Given the description of an element on the screen output the (x, y) to click on. 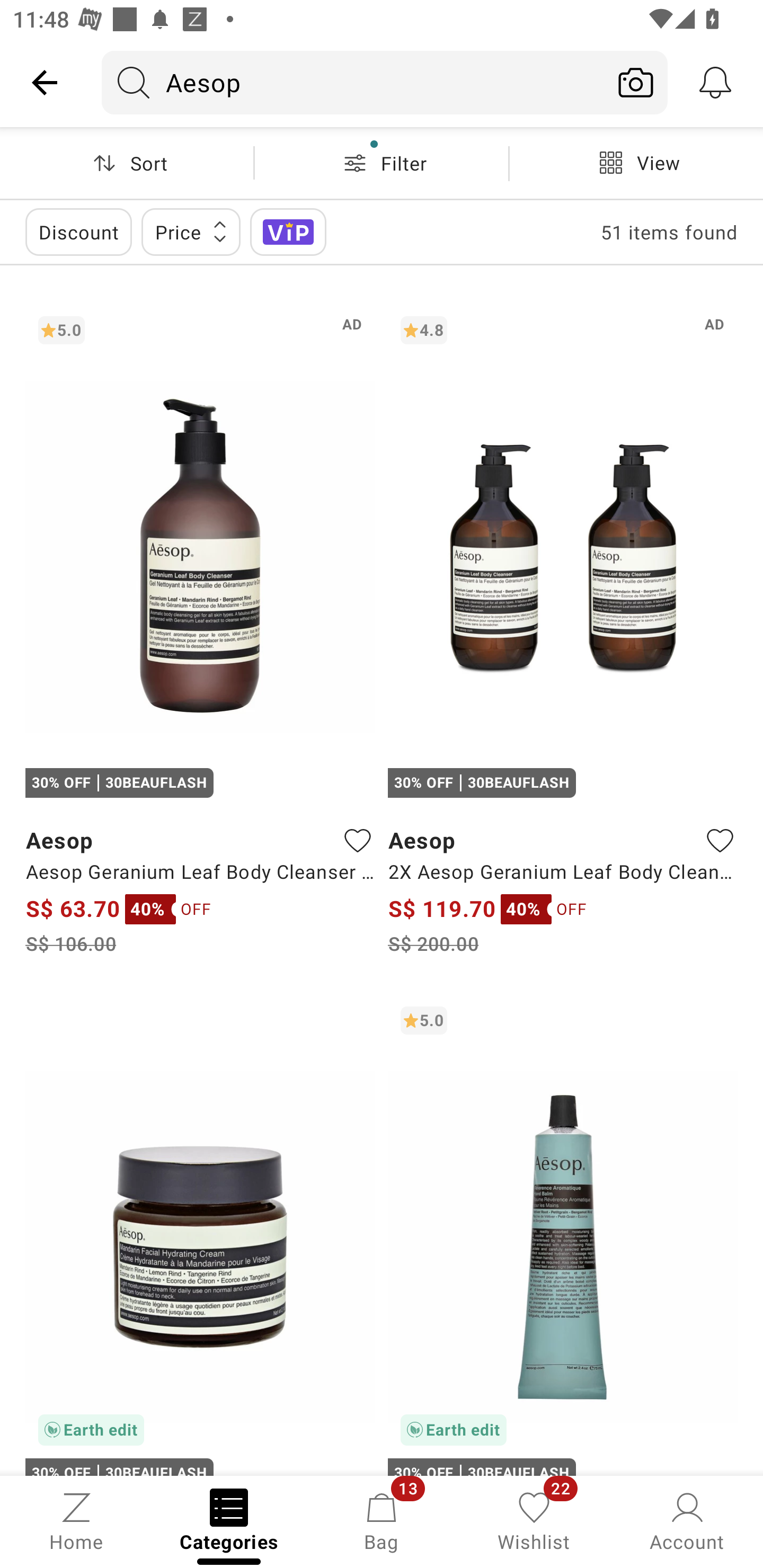
Navigate up (44, 82)
Aesop (352, 82)
Sort (126, 163)
Filter (381, 163)
View (636, 163)
Discount (78, 231)
Price (190, 231)
Earth edit 30% OFF 30BEAUFLASH (200, 1234)
5.0 Earth edit 30% OFF 30BEAUFLASH (562, 1234)
Home (76, 1519)
Bag, 13 new notifications Bag (381, 1519)
Wishlist, 22 new notifications Wishlist (533, 1519)
Account (686, 1519)
